Given the description of an element on the screen output the (x, y) to click on. 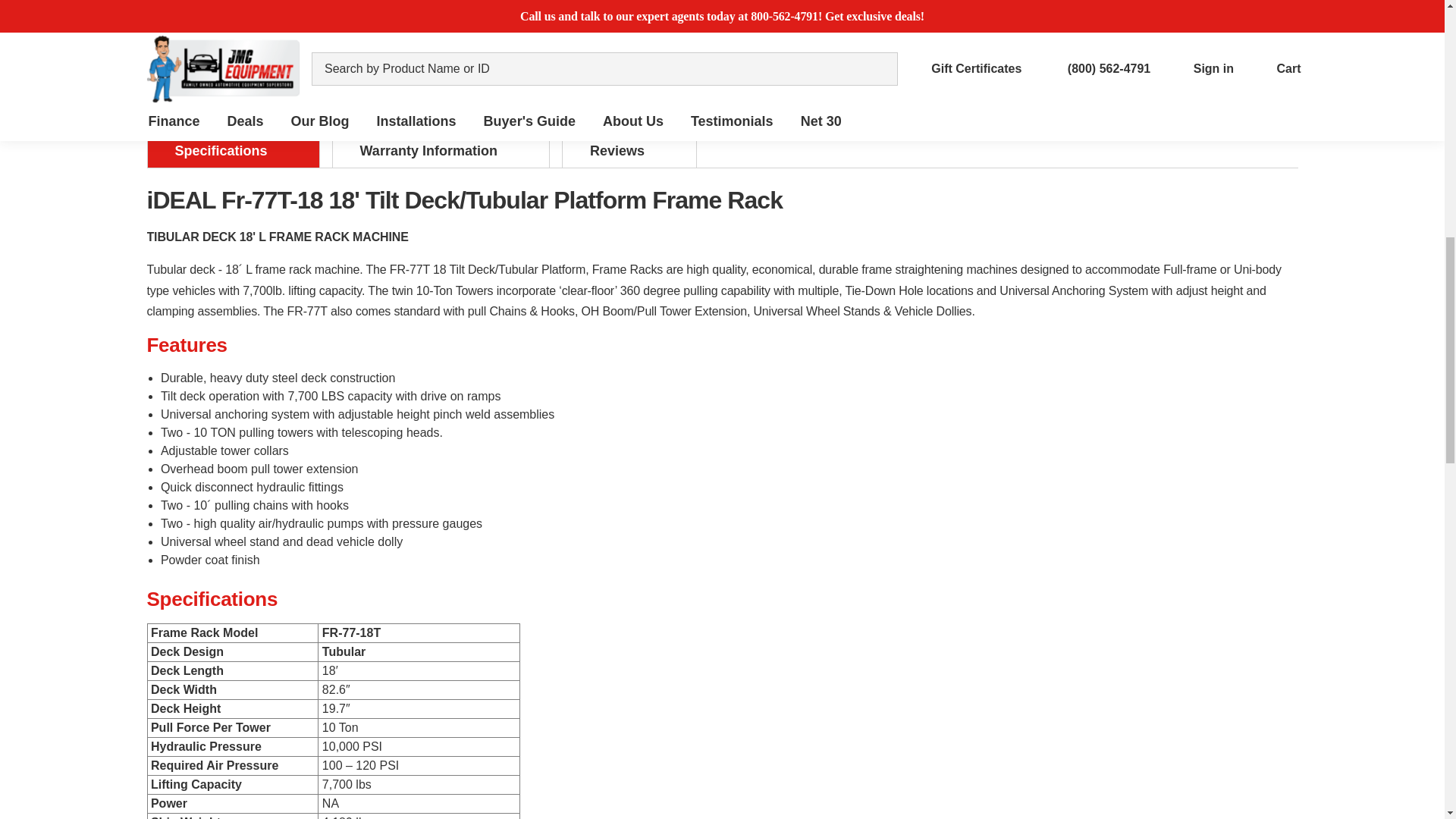
Email (904, 84)
Linkedin (986, 84)
Print (931, 84)
Facebook (876, 84)
Twitter (960, 84)
